Given the description of an element on the screen output the (x, y) to click on. 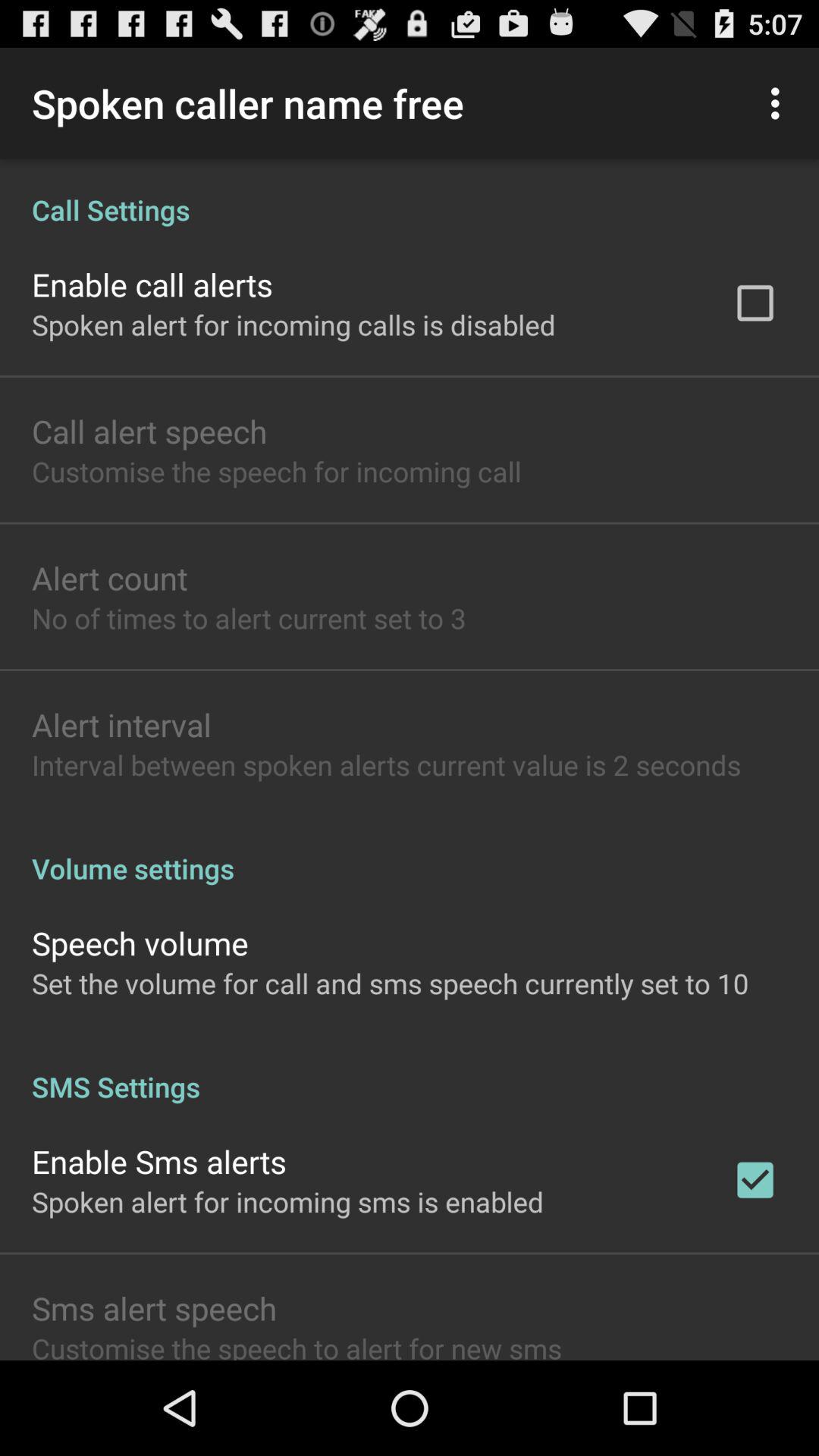
launch item next to the spoken caller name (779, 103)
